Given the description of an element on the screen output the (x, y) to click on. 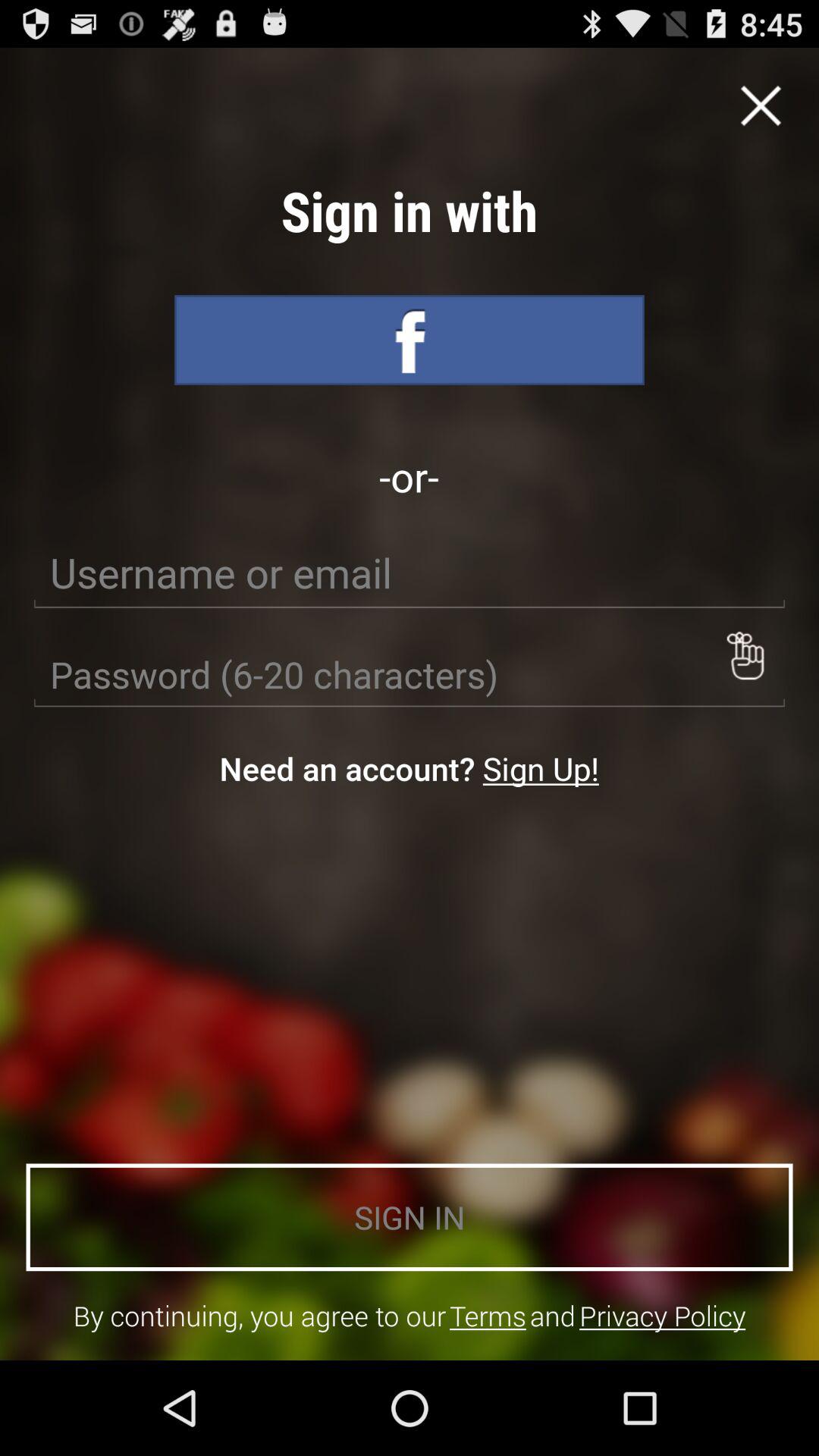
text box to fill in ursername (409, 572)
